Given the description of an element on the screen output the (x, y) to click on. 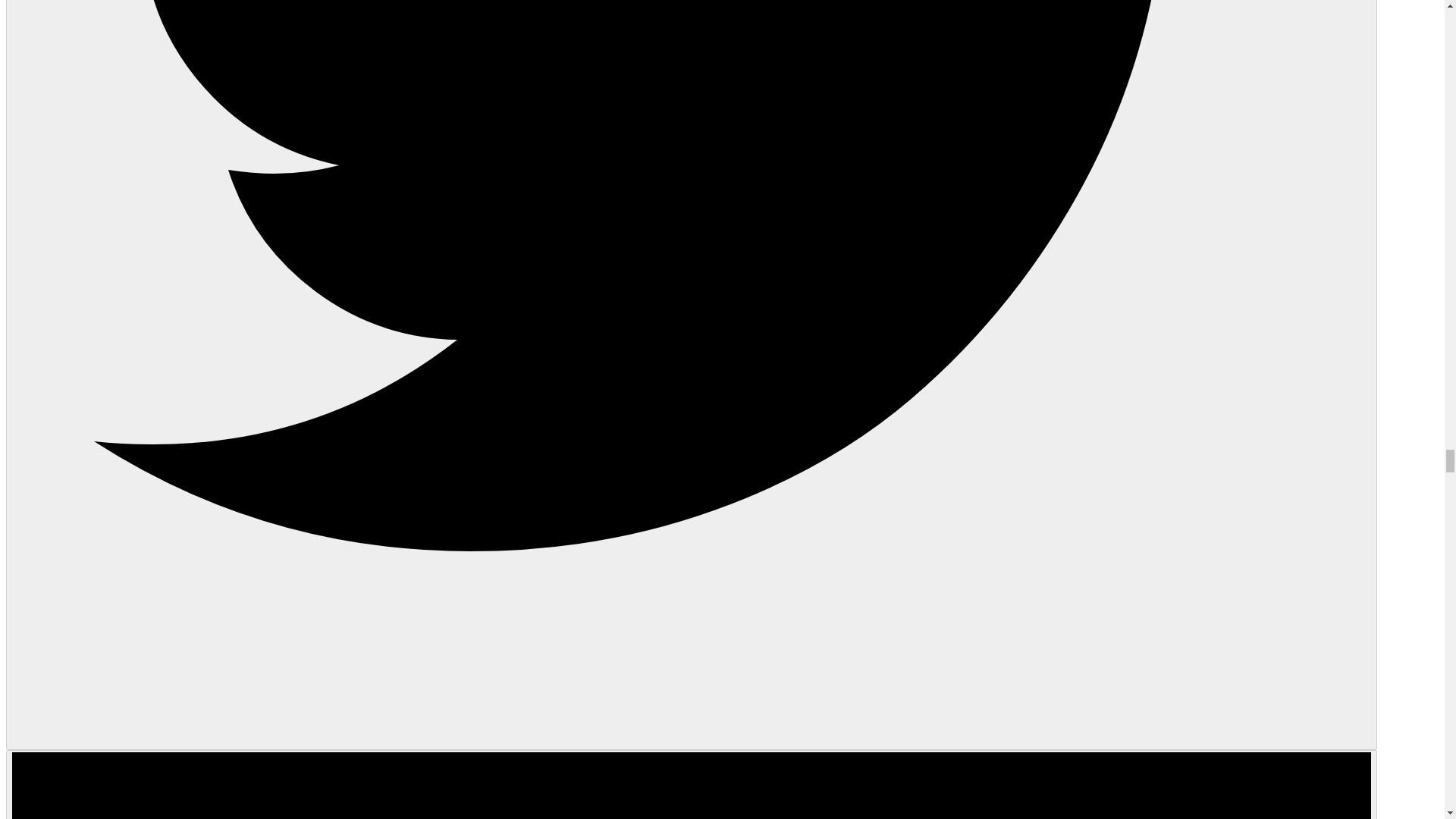
Share on Flipboard (691, 784)
